Given the description of an element on the screen output the (x, y) to click on. 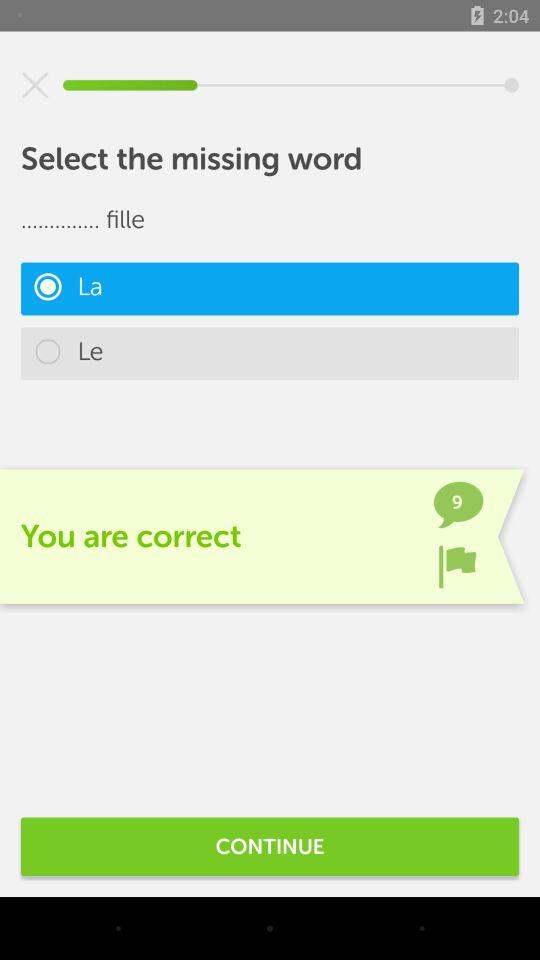
turn off le at the center (270, 353)
